Given the description of an element on the screen output the (x, y) to click on. 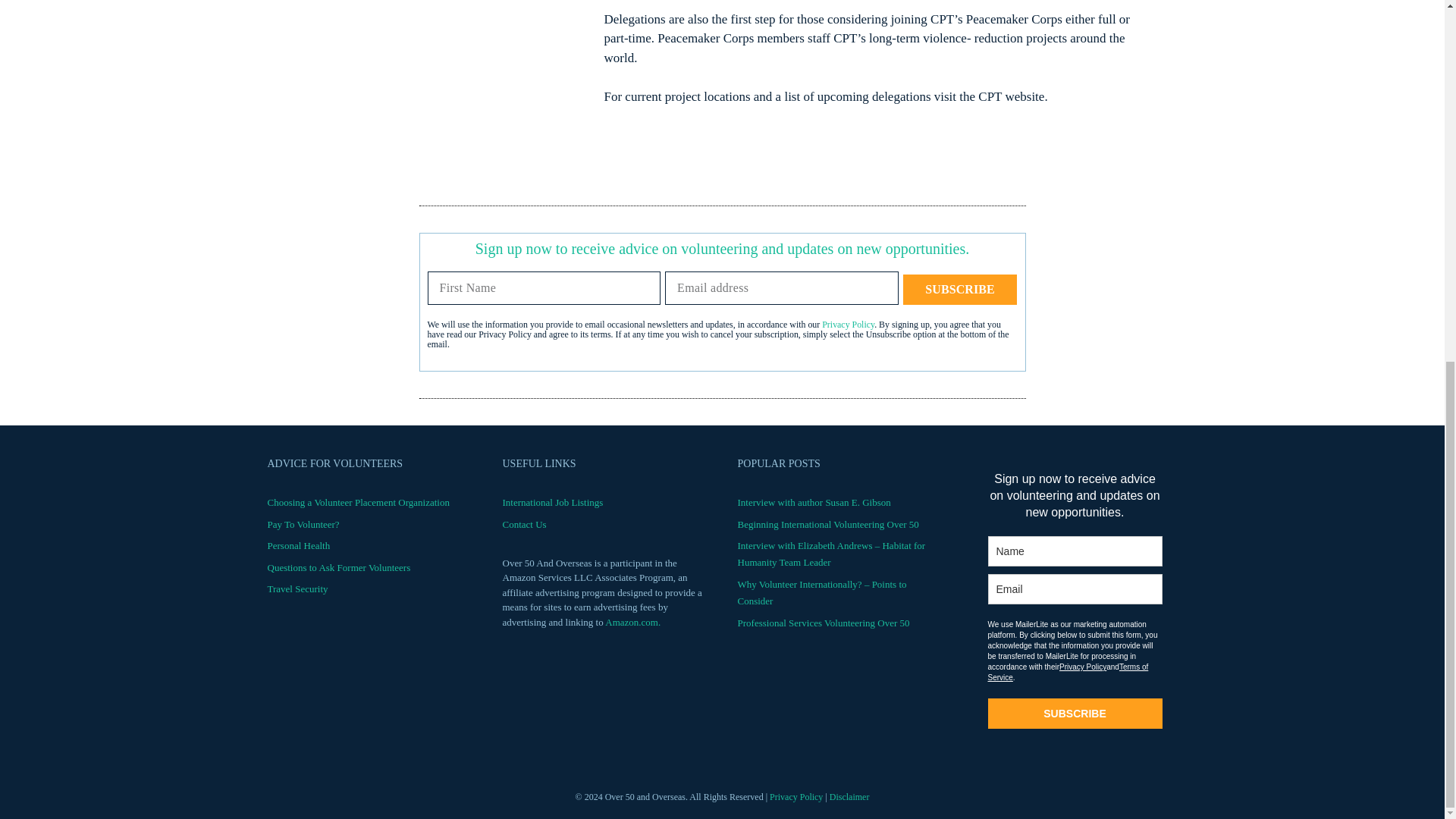
Choosing a Volunteer Placement Organization (357, 501)
Privacy Policy (848, 324)
SUBSCRIBE (959, 289)
